Given the description of an element on the screen output the (x, y) to click on. 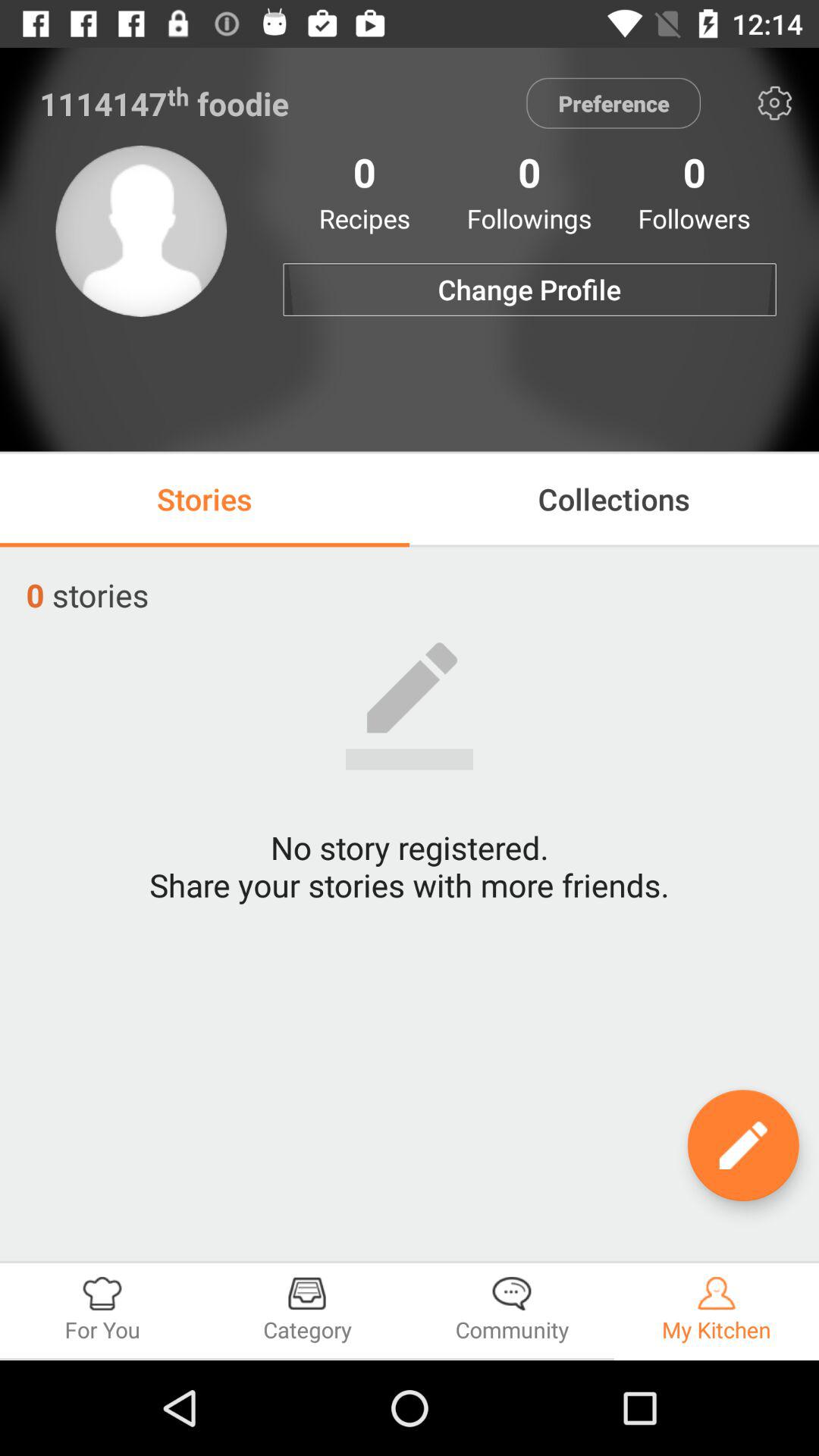
select item above followers item (774, 103)
